Given the description of an element on the screen output the (x, y) to click on. 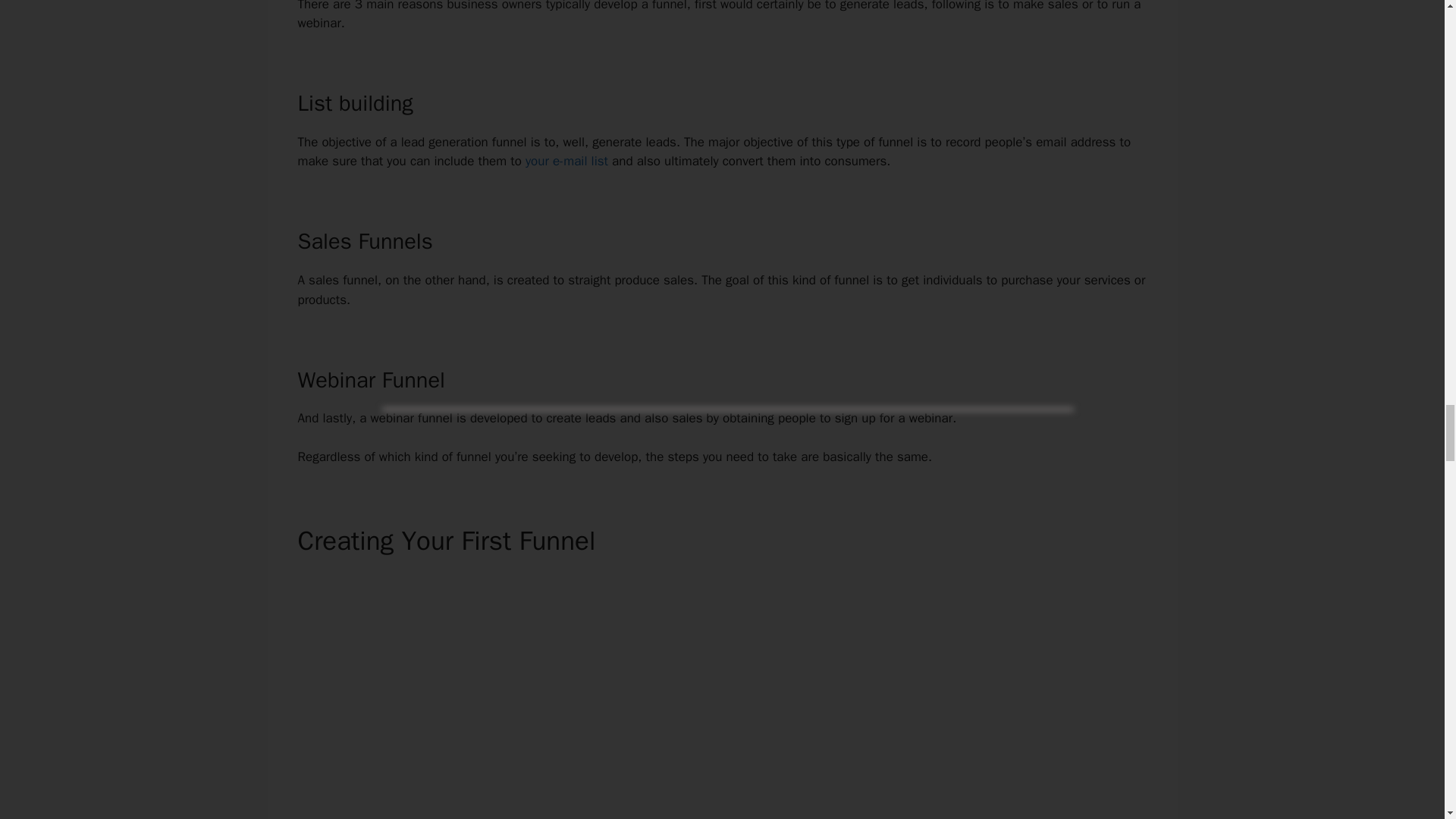
your e-mail list (566, 160)
